Given the description of an element on the screen output the (x, y) to click on. 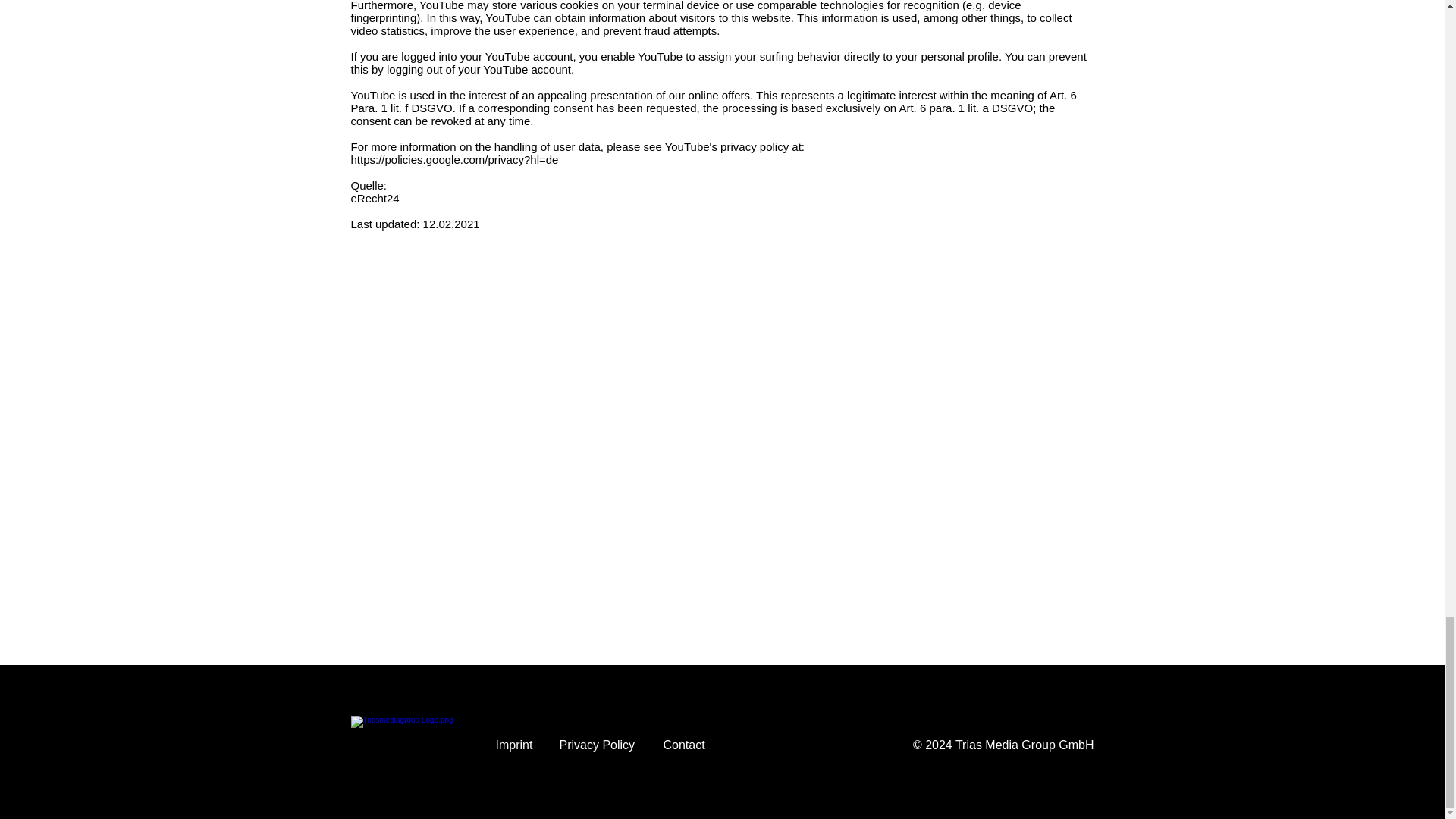
Contact (683, 744)
Imprint (514, 744)
Privacy Policy (596, 744)
